Given the description of an element on the screen output the (x, y) to click on. 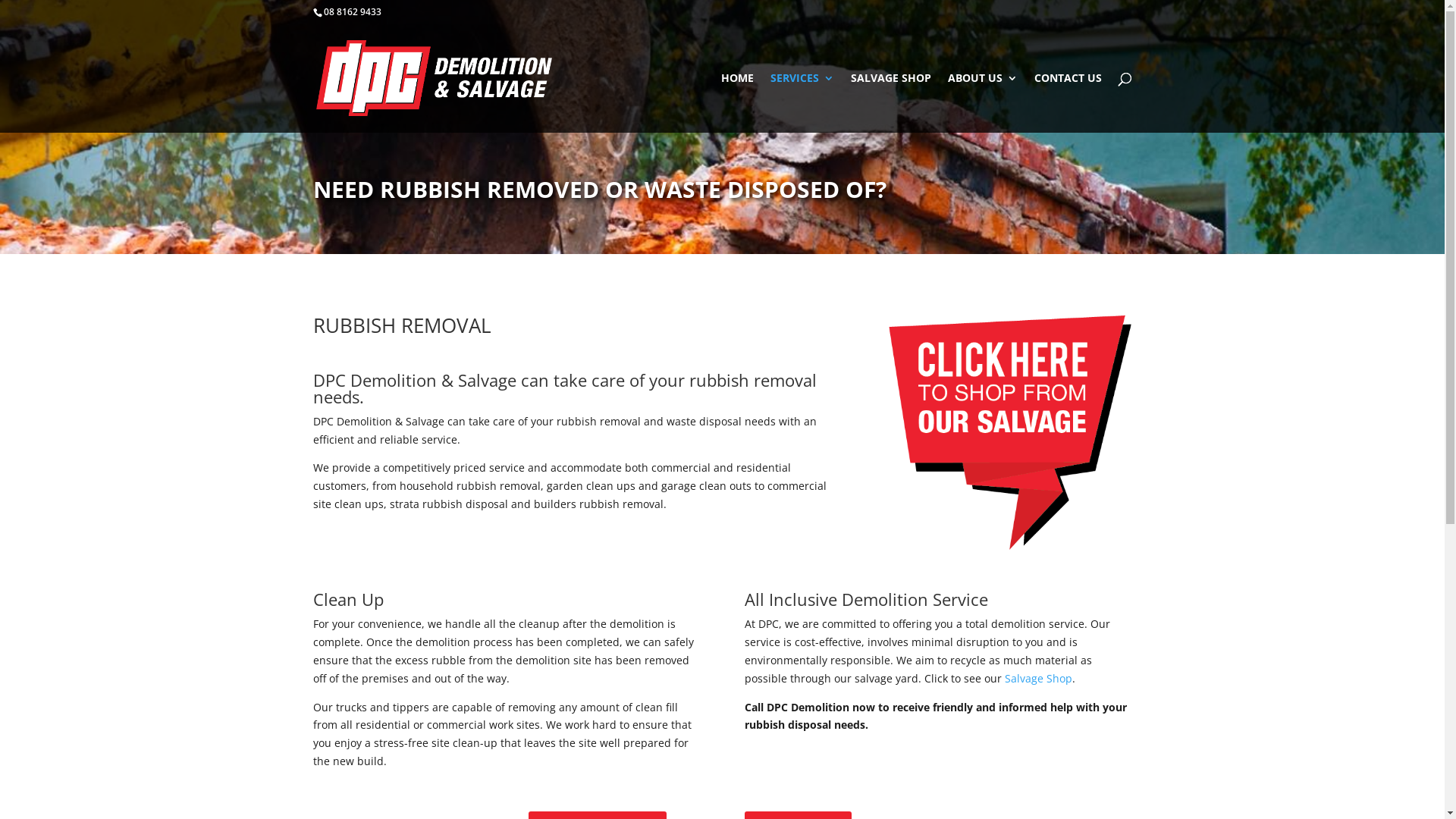
SALVAGE SHOP Element type: text (890, 102)
Salvage Shop Element type: text (1038, 678)
CONTACT US Element type: text (1067, 102)
SERVICES Element type: text (802, 102)
08 8162 9433 Element type: text (351, 11)
HOME Element type: text (736, 102)
ABOUT US Element type: text (982, 102)
